Given the description of an element on the screen output the (x, y) to click on. 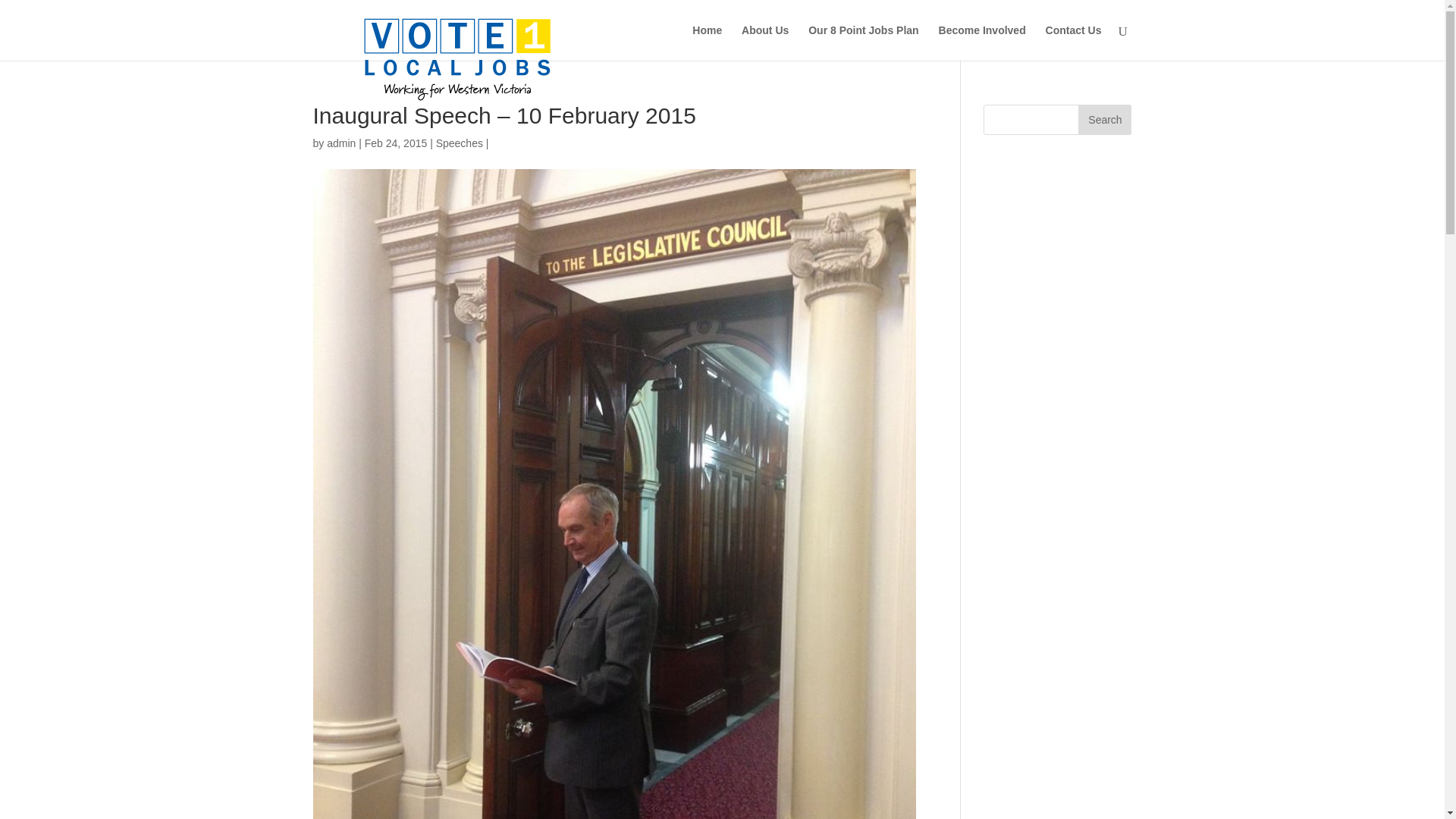
Search (1104, 119)
Search (1104, 119)
Posts by admin (340, 143)
Our 8 Point Jobs Plan (863, 42)
Speeches (459, 143)
admin (340, 143)
Contact Us (1073, 42)
Become Involved (982, 42)
About Us (765, 42)
